Given the description of an element on the screen output the (x, y) to click on. 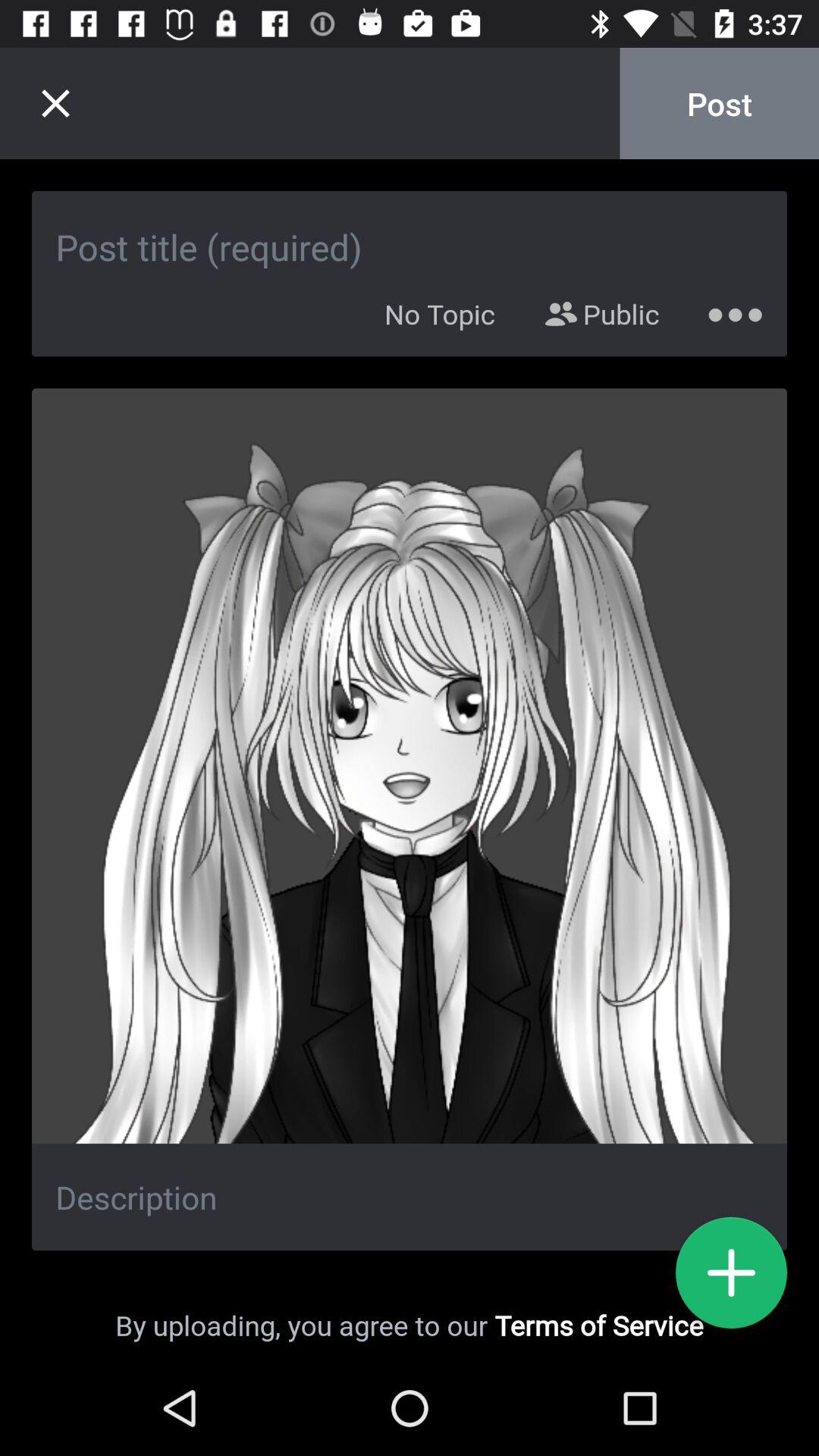
click to read the terms of service (731, 1272)
